Given the description of an element on the screen output the (x, y) to click on. 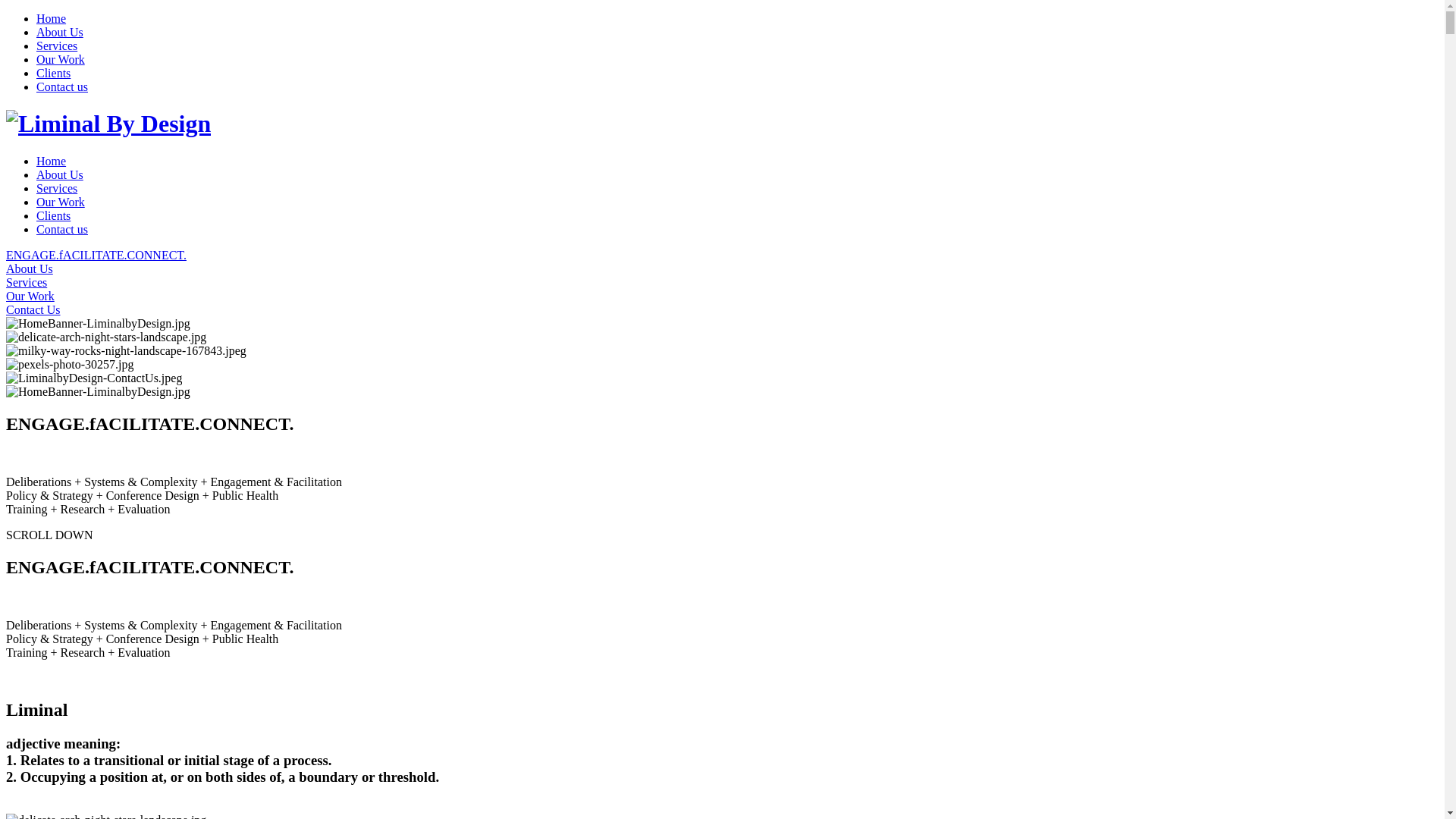
Clients Element type: text (53, 72)
ENGAGE.fACILITATE.CONNECT. Element type: text (722, 255)
About Us Element type: text (722, 269)
Services Element type: text (56, 45)
Home Element type: text (50, 18)
Home Element type: text (50, 160)
Our Work Element type: text (60, 59)
Clients Element type: text (53, 215)
Services Element type: text (56, 188)
About Us Element type: text (59, 31)
Contact Us Element type: text (722, 309)
Our Work Element type: text (60, 201)
Our Work Element type: text (722, 296)
Services Element type: text (722, 282)
Contact us Element type: text (61, 228)
Contact us Element type: text (61, 86)
About Us Element type: text (59, 174)
